Given the description of an element on the screen output the (x, y) to click on. 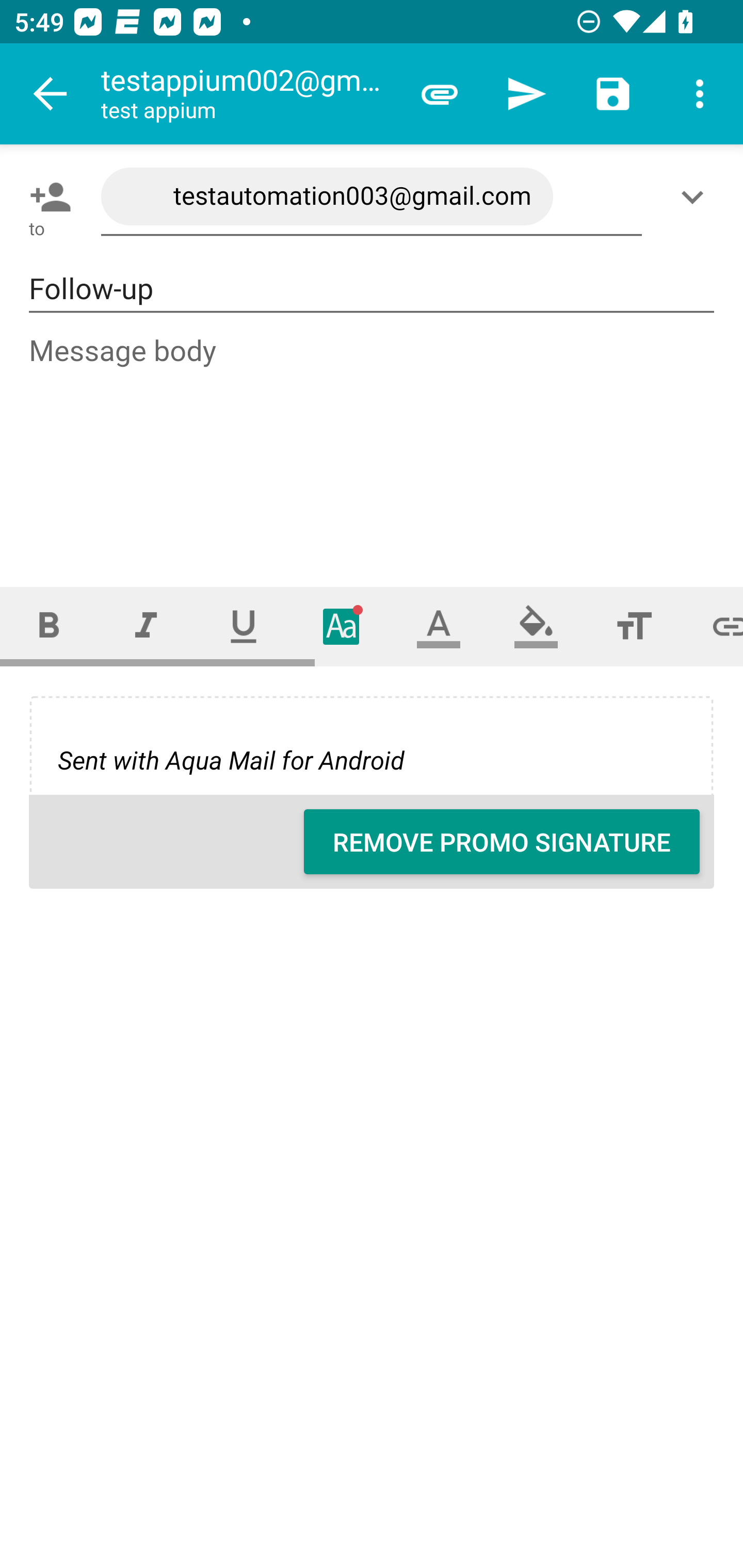
Navigate up (50, 93)
testappium002@gmail.com test appium (248, 93)
Attach (439, 93)
Send (525, 93)
Save (612, 93)
More options (699, 93)
testautomation003@gmail.com,  (371, 197)
Pick contact: To (46, 196)
Show/Add CC/BCC (696, 196)
Follow-up (371, 288)
Message body (372, 442)
Bold (48, 626)
Italic (145, 626)
Underline (243, 626)
Typeface (font) (341, 626)
Text color (438, 626)
Fill color (536, 626)
Font size (633, 626)
Set link (712, 626)
REMOVE PROMO SIGNATURE (501, 841)
